Given the description of an element on the screen output the (x, y) to click on. 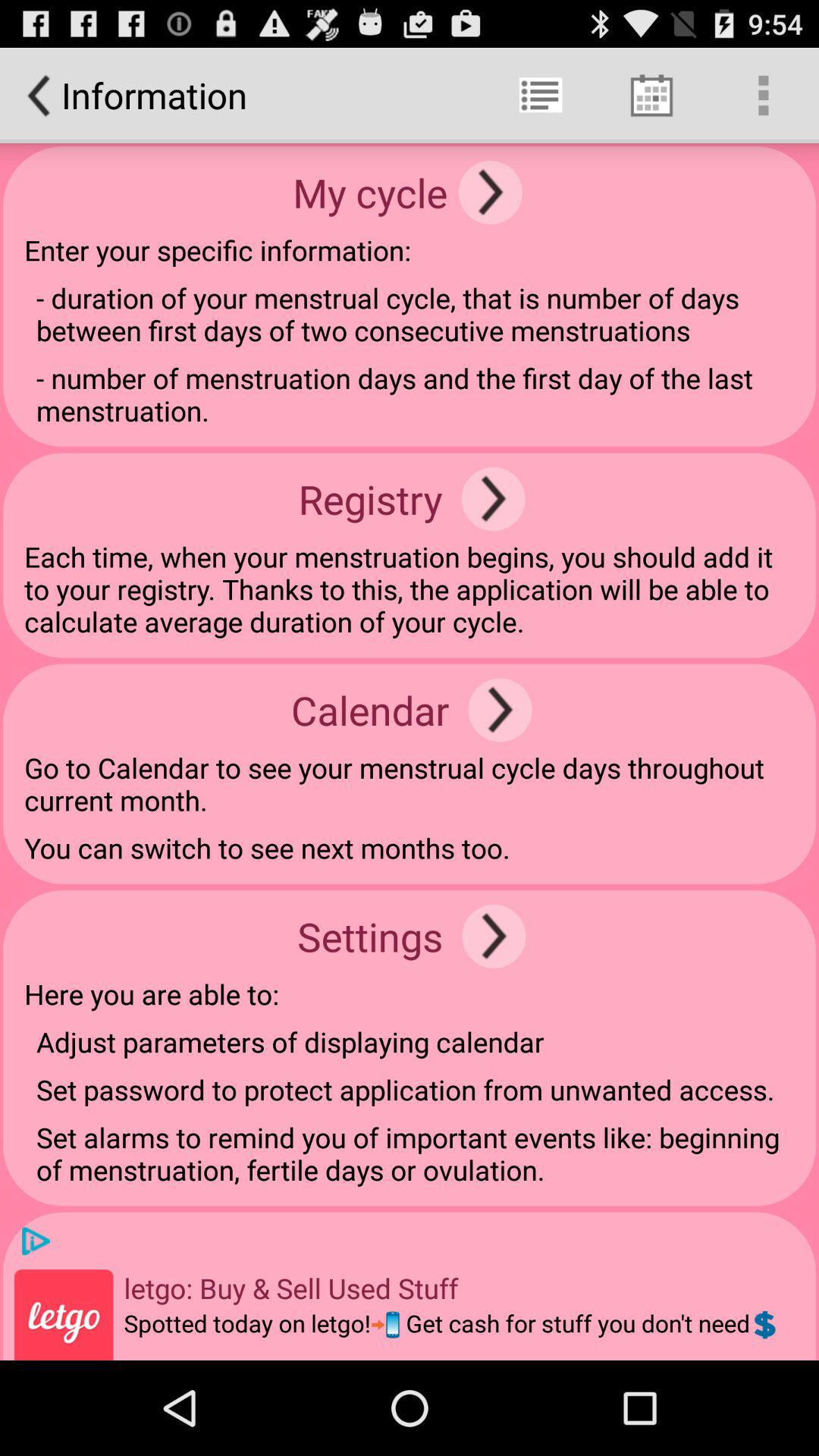
open icon next to the calendar icon (500, 710)
